Given the description of an element on the screen output the (x, y) to click on. 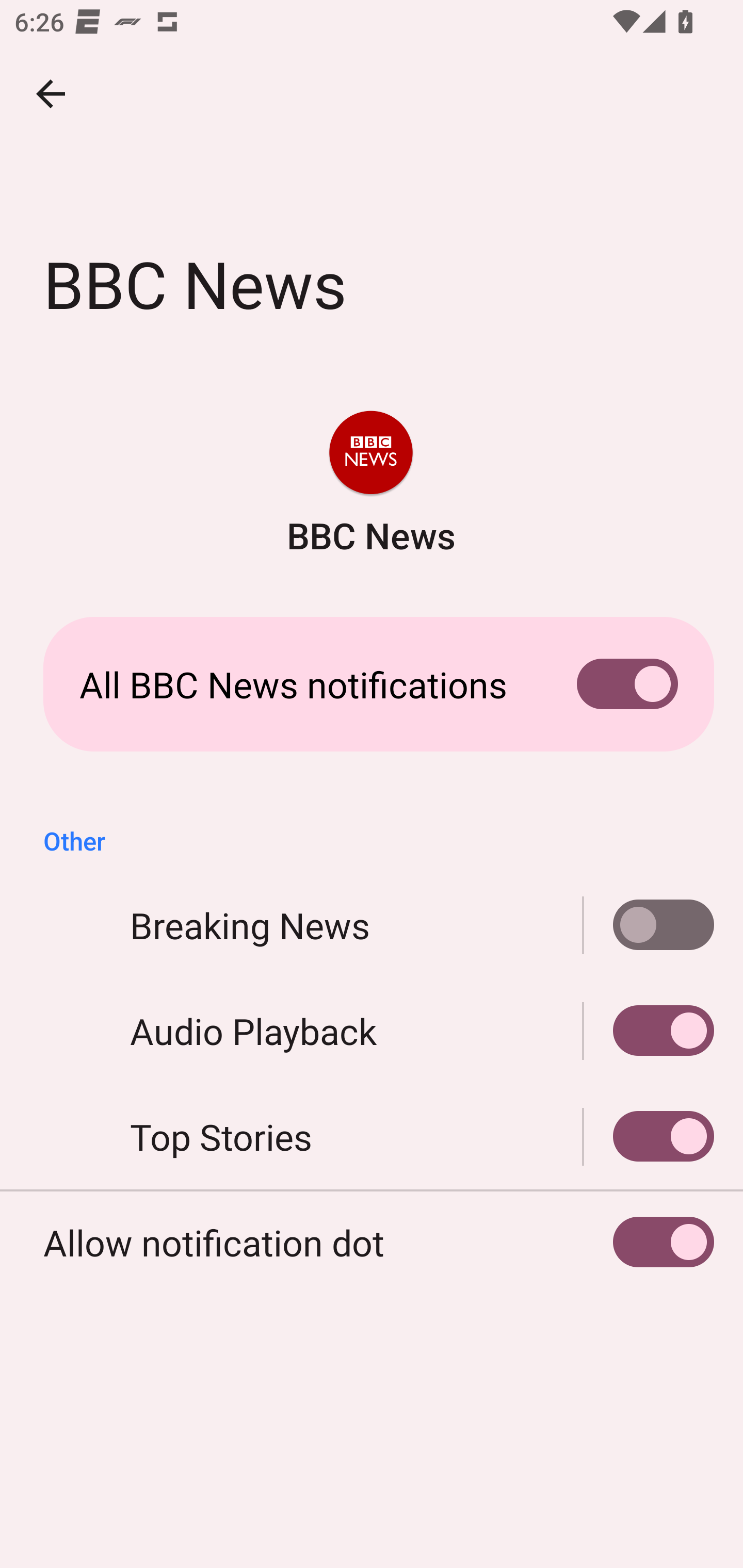
Navigate up (50, 93)
BBC News (370, 484)
All BBC News notifications (371, 684)
Breaking News (371, 924)
Breaking News (648, 924)
Audio Playback (371, 1030)
Audio Playback (648, 1030)
Top Stories (371, 1136)
Top Stories (648, 1136)
Allow notification dot (371, 1242)
